Given the description of an element on the screen output the (x, y) to click on. 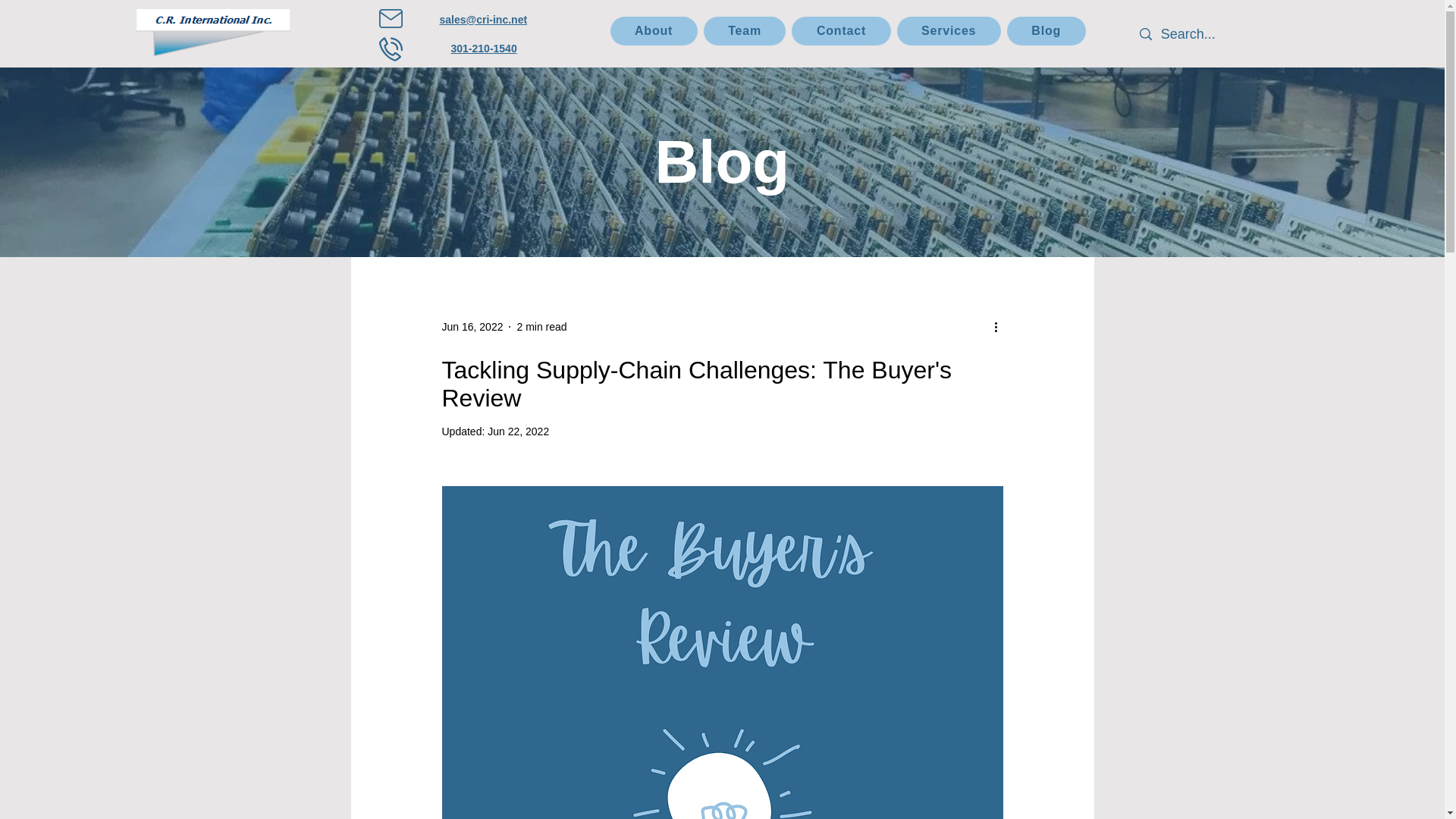
Services (948, 30)
Jun 22, 2022 (517, 431)
2 min read (541, 326)
Blog (1046, 30)
About (653, 30)
301-210-1540 (482, 48)
Contact (840, 30)
Jun 16, 2022 (471, 326)
Team (744, 30)
